Given the description of an element on the screen output the (x, y) to click on. 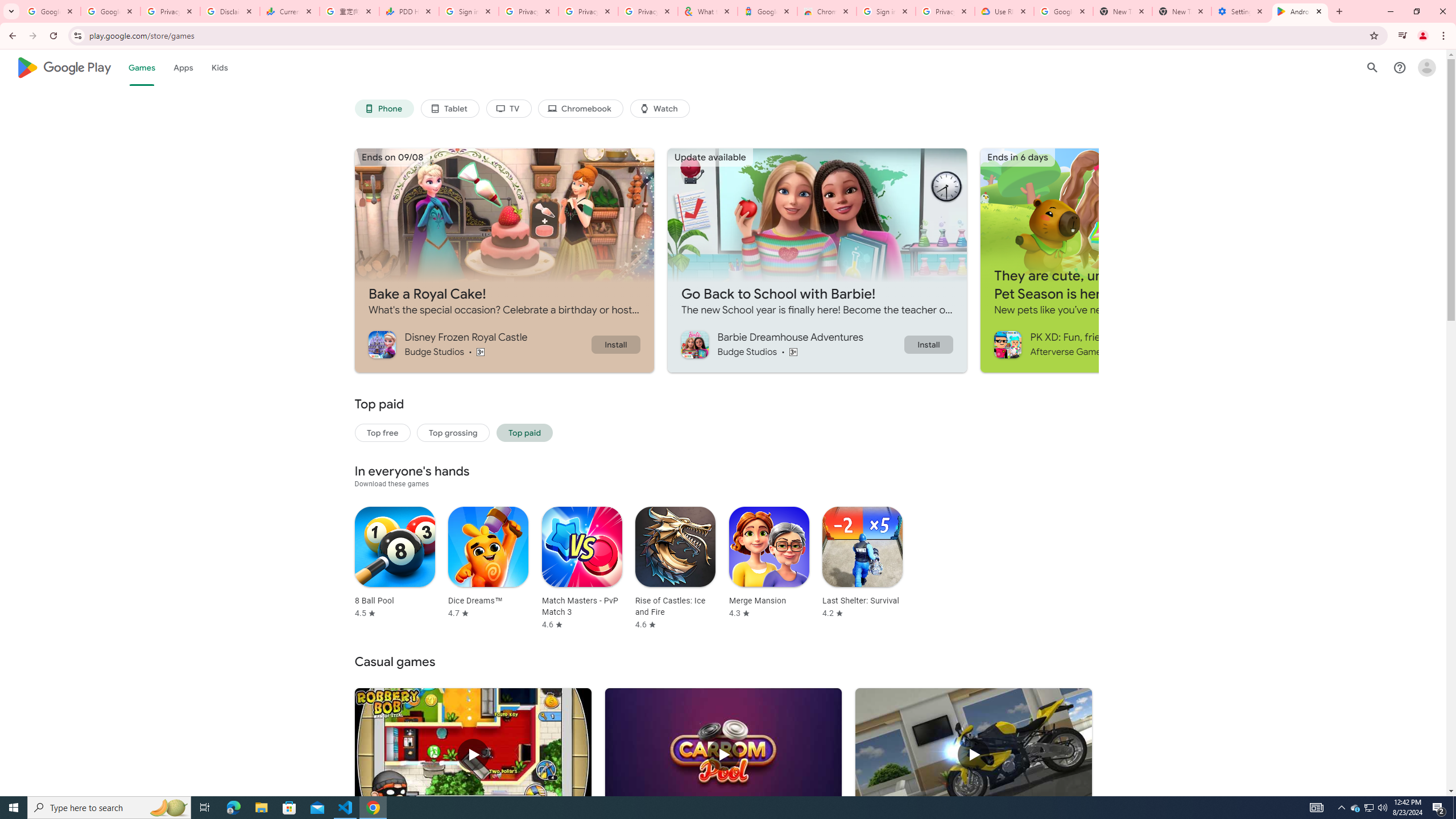
Content rating Rated for 3+ (793, 351)
Help Center (1399, 67)
Open account menu (1426, 67)
Top paid (524, 432)
Last Shelter: Survival Rated 4.2 stars out of five stars (862, 562)
Android Apps on Google Play (1300, 11)
Play Traffic Rider (973, 754)
Tablet (449, 108)
Play Robbery Bob - King of Sneak (472, 754)
